Given the description of an element on the screen output the (x, y) to click on. 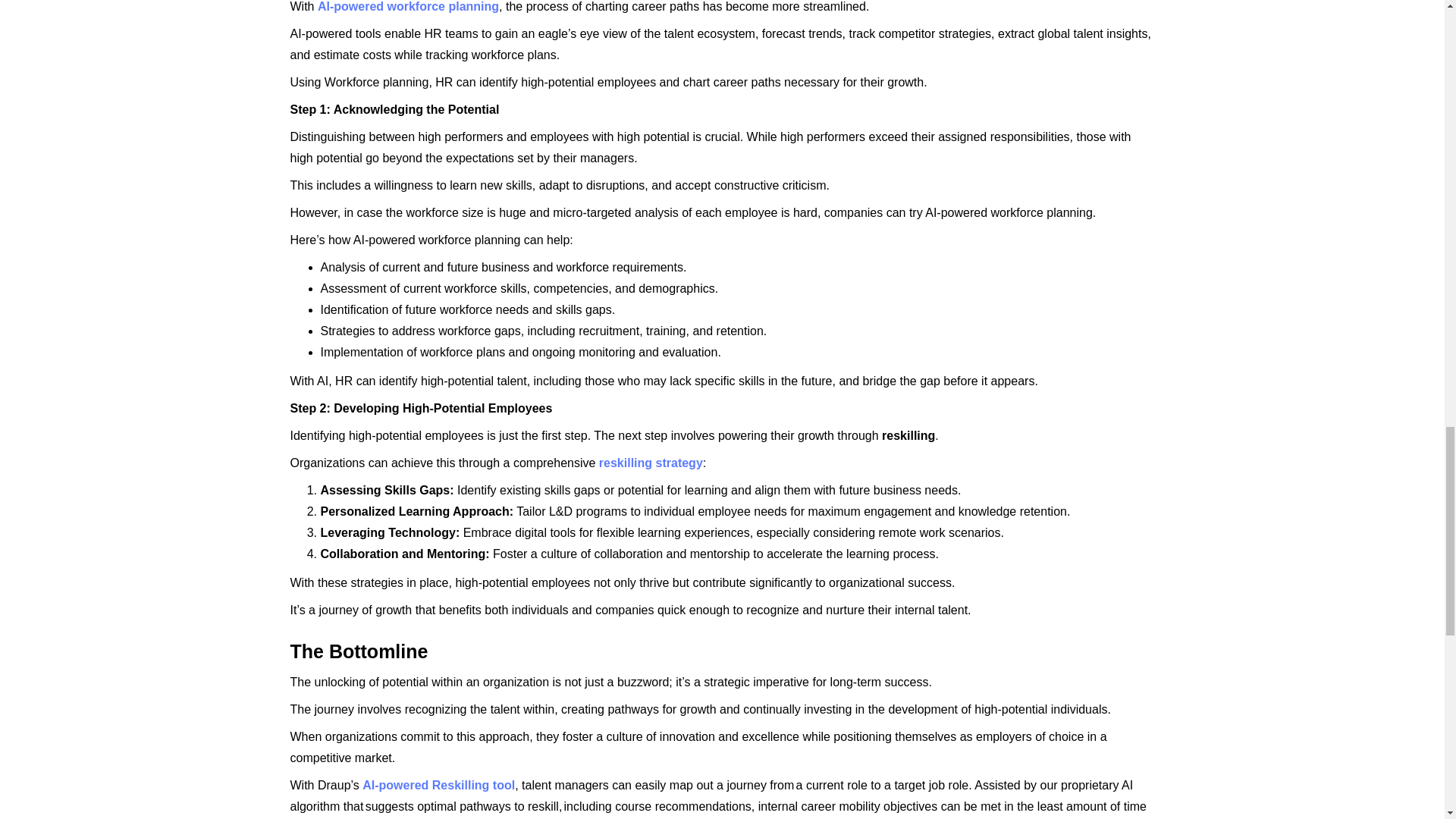
AI-powered Reskilling tool (438, 784)
AI-powered workforce planning (408, 6)
reskilling strategy (650, 462)
